Given the description of an element on the screen output the (x, y) to click on. 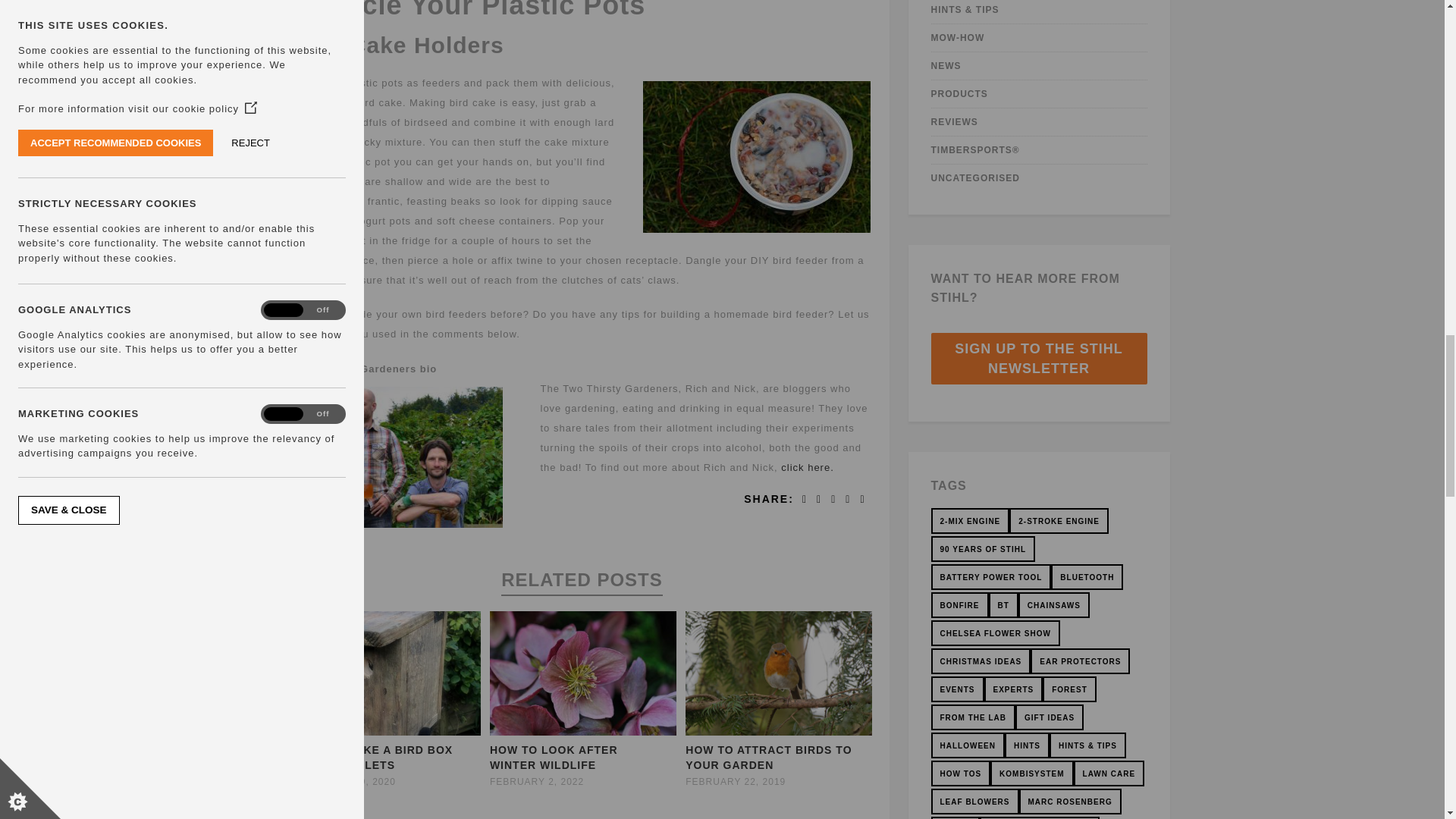
click here. (807, 467)
Permanent Link to How to Look After Winter Wildlife (553, 757)
Permanent Link to How To Make A Bird Box Out Of Pallets (373, 757)
Permanent Link to How to attract birds to your garden (778, 731)
Permanent Link to How to attract birds to your garden (768, 757)
Permanent Link to How to Look After Winter Wildlife (583, 731)
Permanent Link to How To Make A Bird Box Out Of Pallets (387, 731)
